Given the description of an element on the screen output the (x, y) to click on. 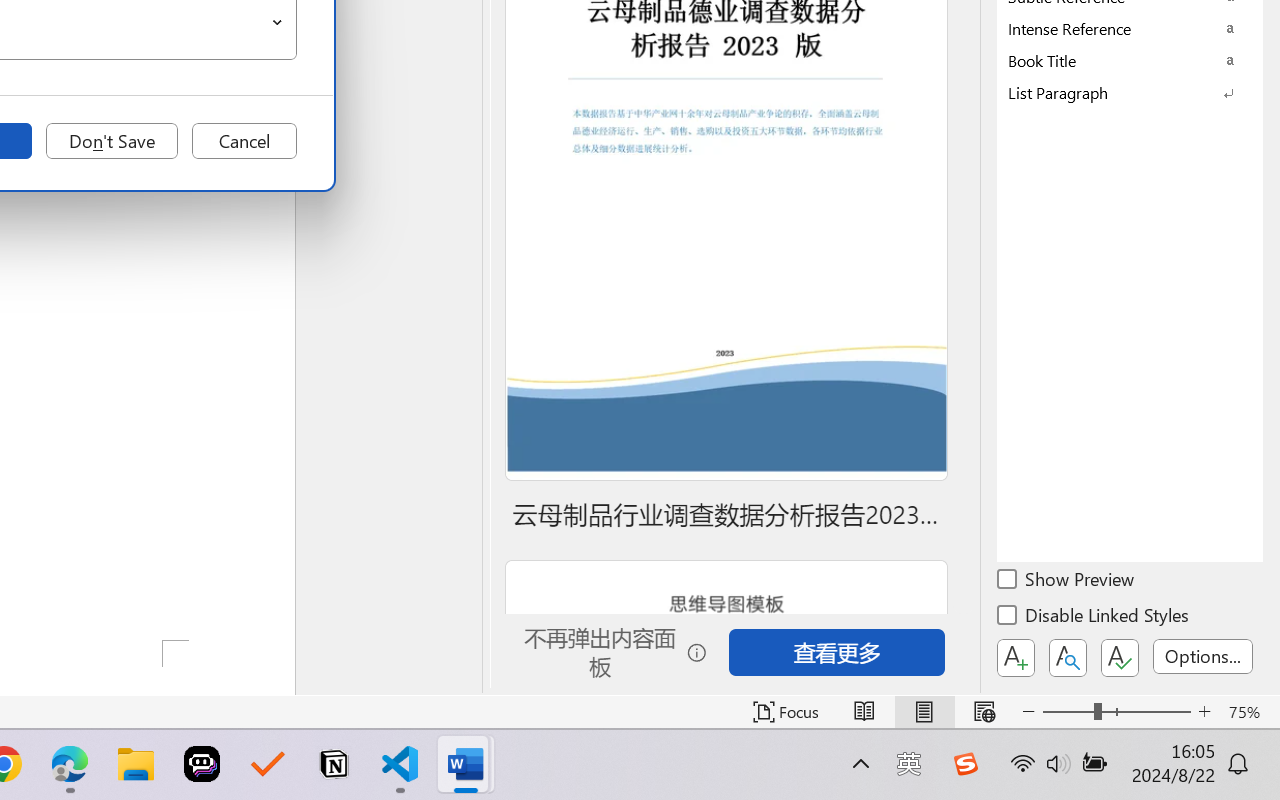
Zoom Out (1067, 712)
Class: NetUIImage (1116, 92)
Book Title (1130, 60)
Intense Reference (1130, 28)
Options... (1203, 656)
Zoom (1116, 712)
Cancel (244, 141)
Read Mode (864, 712)
Class: Image (965, 764)
Zoom In (1204, 712)
Class: NetUIButton (1119, 657)
